Given the description of an element on the screen output the (x, y) to click on. 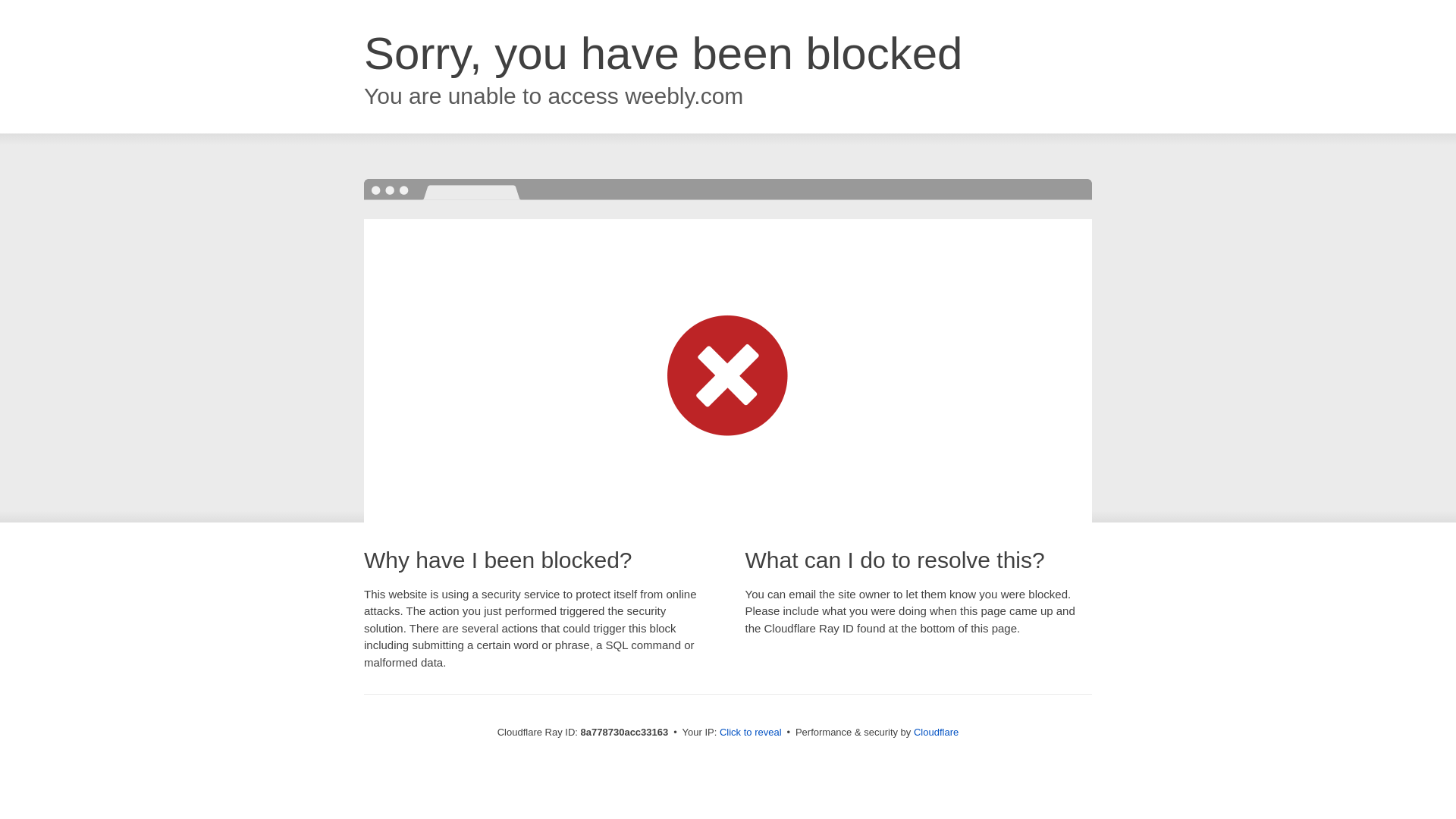
Click to reveal (750, 732)
Cloudflare (936, 731)
